Given the description of an element on the screen output the (x, y) to click on. 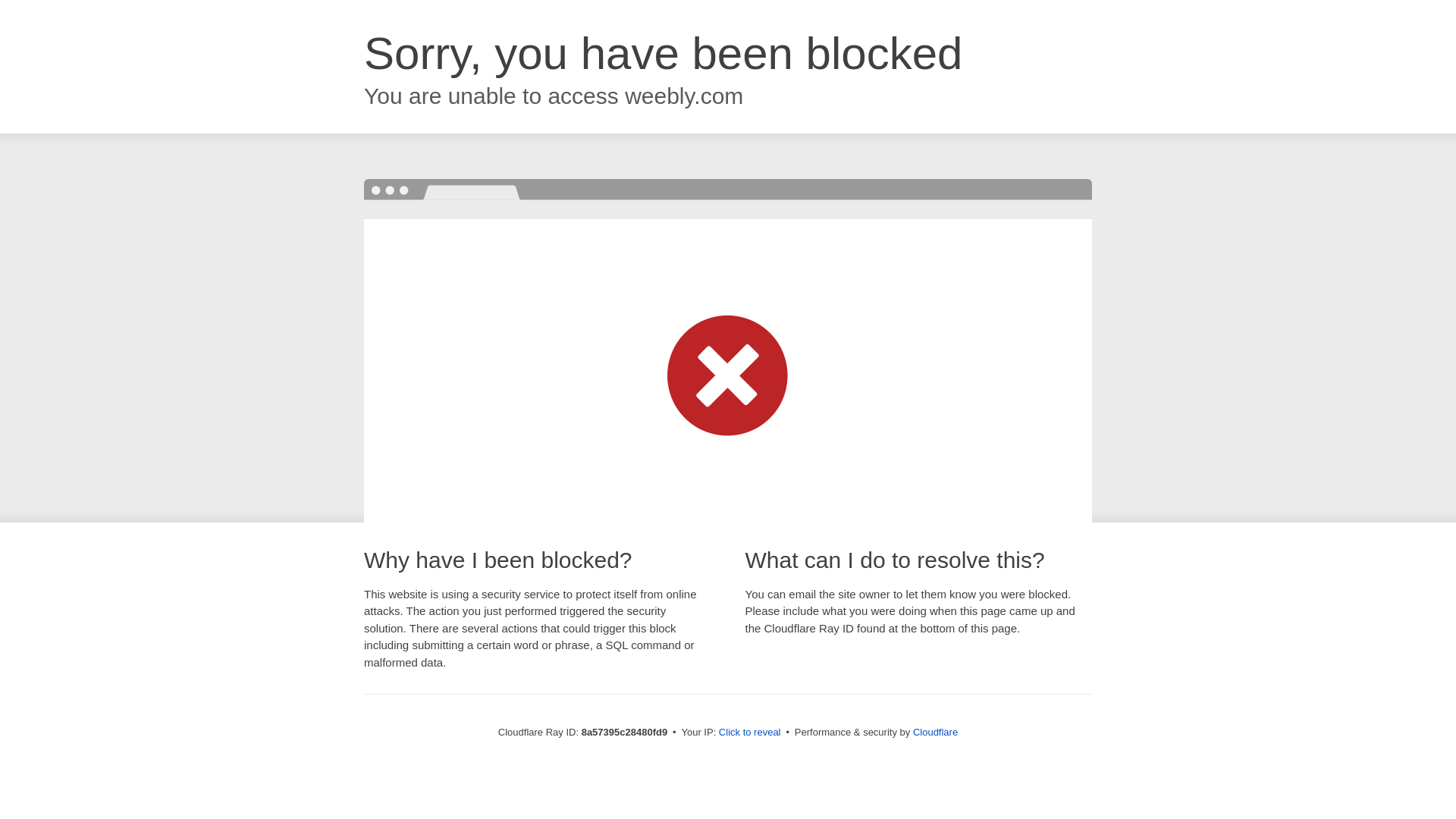
Click to reveal (749, 732)
Cloudflare (935, 731)
